Given the description of an element on the screen output the (x, y) to click on. 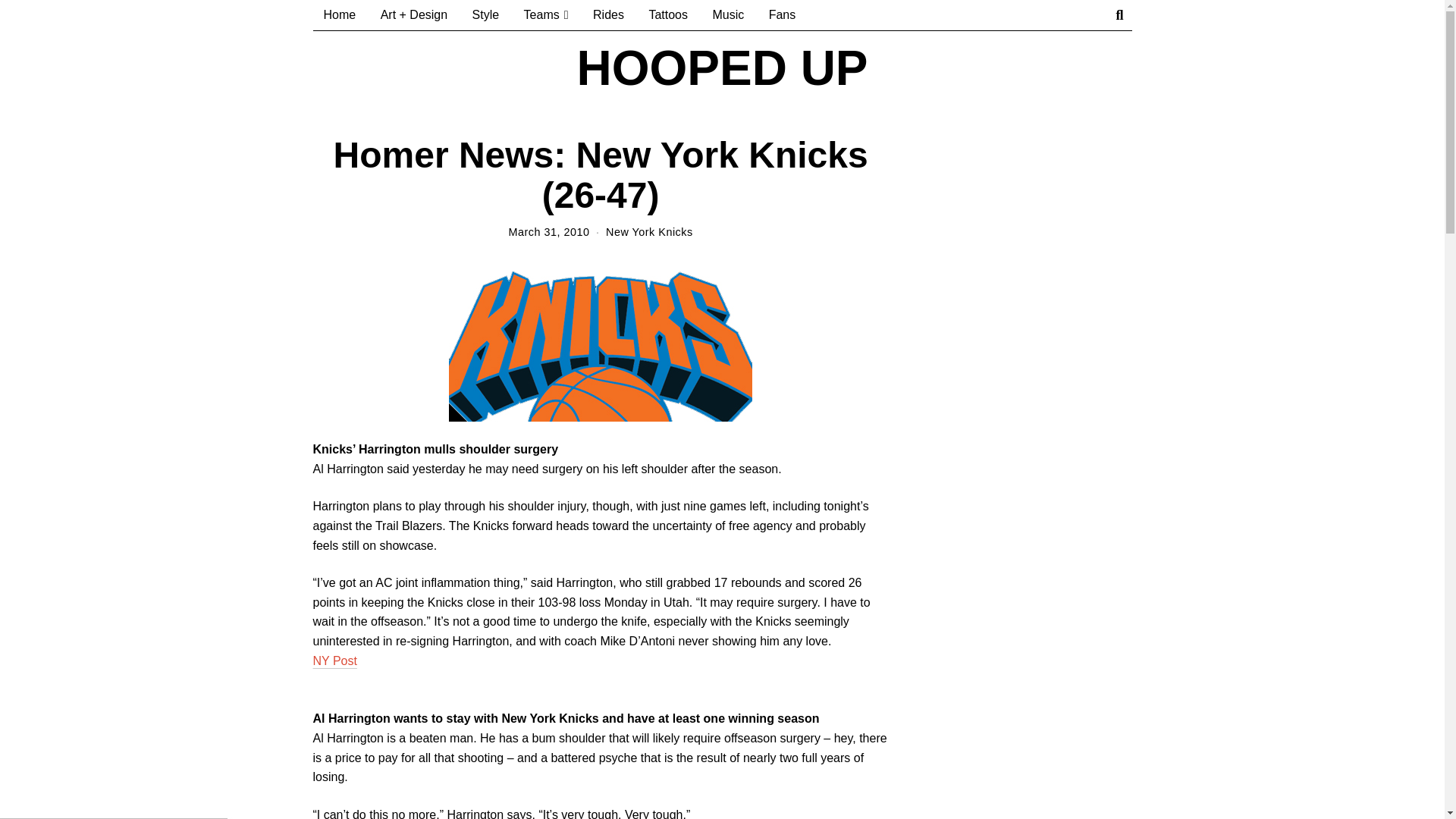
Fans (782, 15)
Rides (608, 15)
Tattoos (667, 15)
Style (486, 15)
Music (727, 15)
Teams (546, 15)
Home (339, 15)
